Given the description of an element on the screen output the (x, y) to click on. 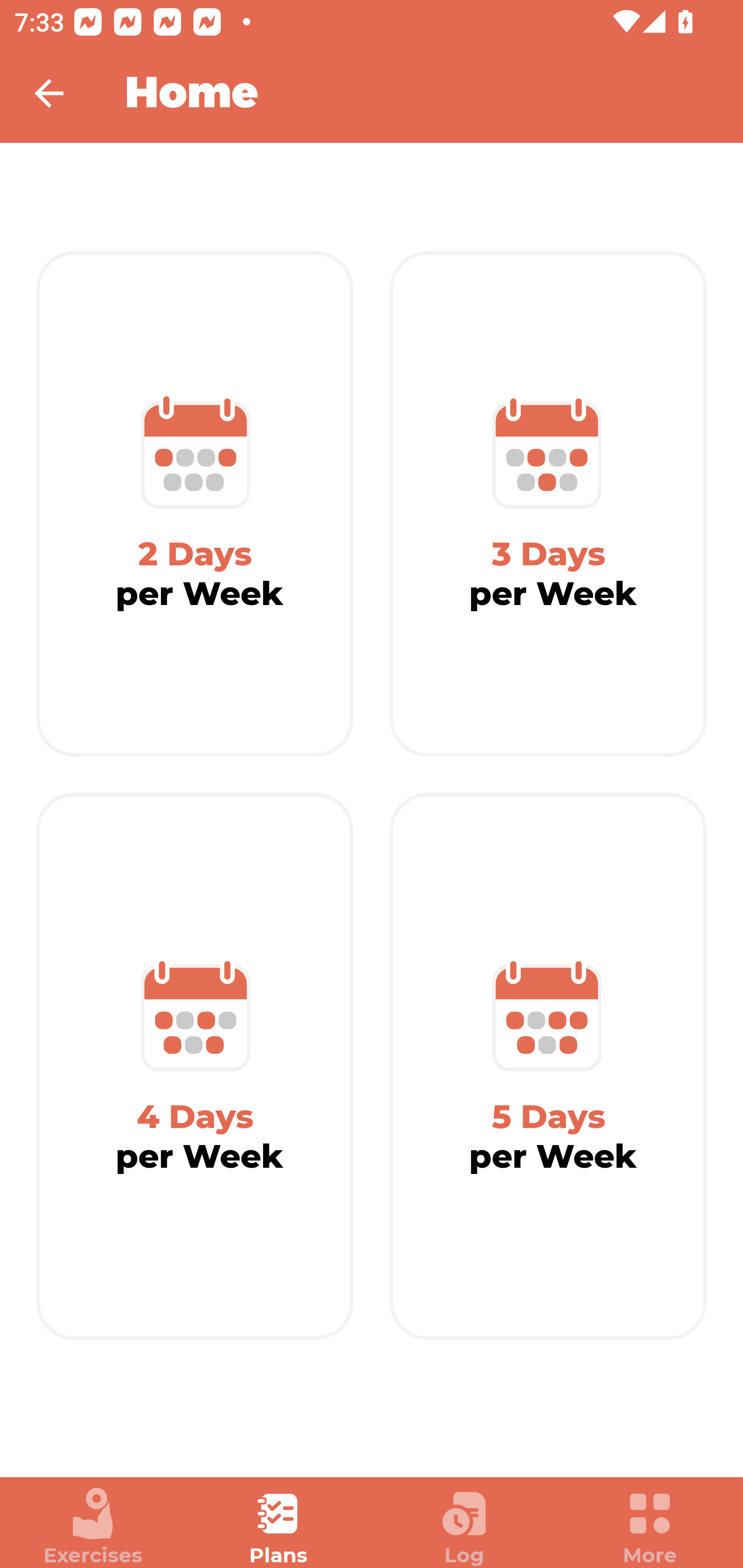
Back (62, 92)
2 Days
 per Week (194, 503)
3 Days
 per Week (547, 503)
4 Days
 per Week (194, 1066)
5 Days
 per Week (547, 1066)
Exercises (92, 1527)
Plans (278, 1527)
Log (464, 1527)
More (650, 1527)
